Given the description of an element on the screen output the (x, y) to click on. 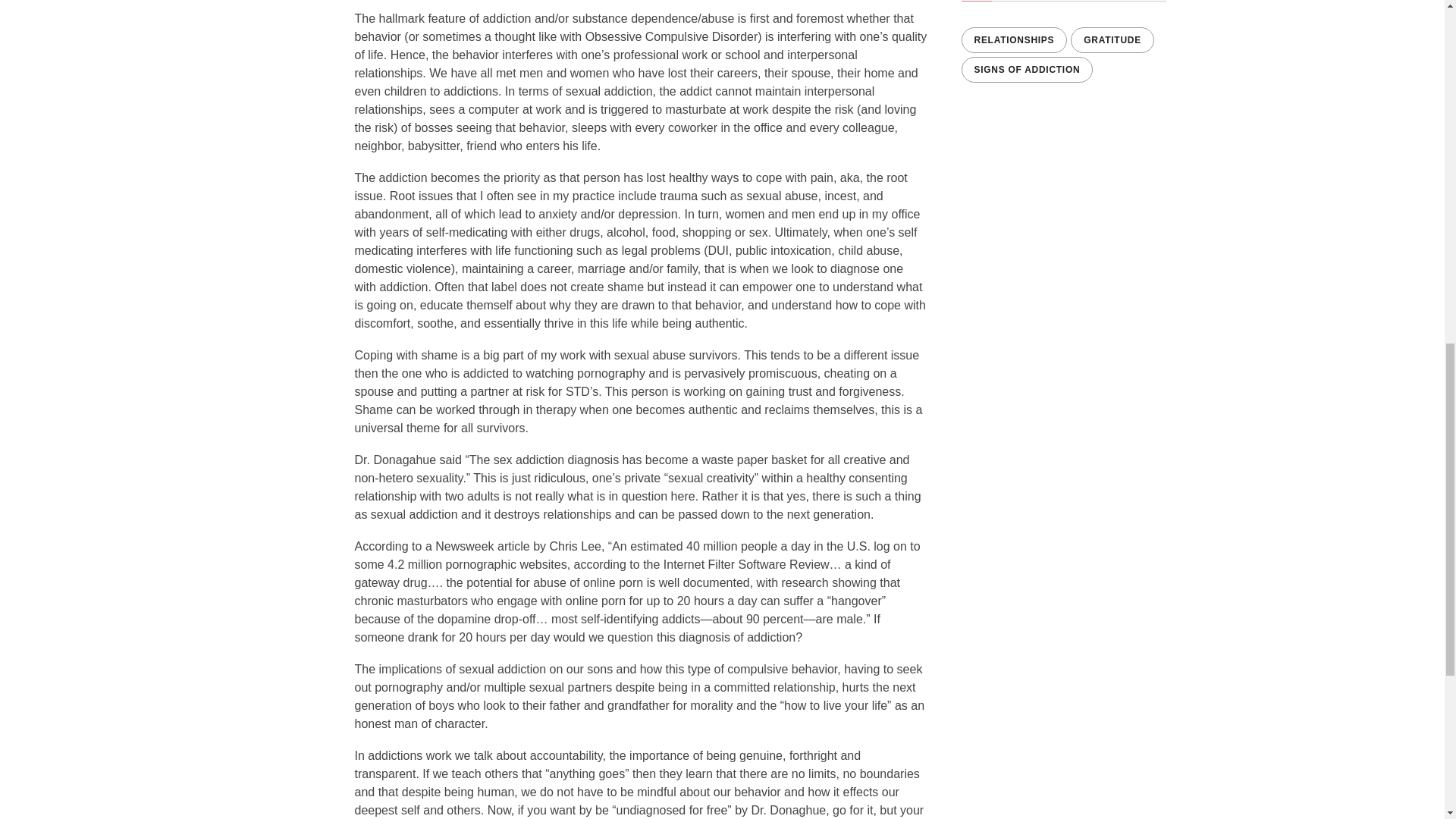
RELATIONSHIPS (1013, 40)
GRATITUDE (1112, 40)
SIGNS OF ADDICTION (1026, 69)
